Given the description of an element on the screen output the (x, y) to click on. 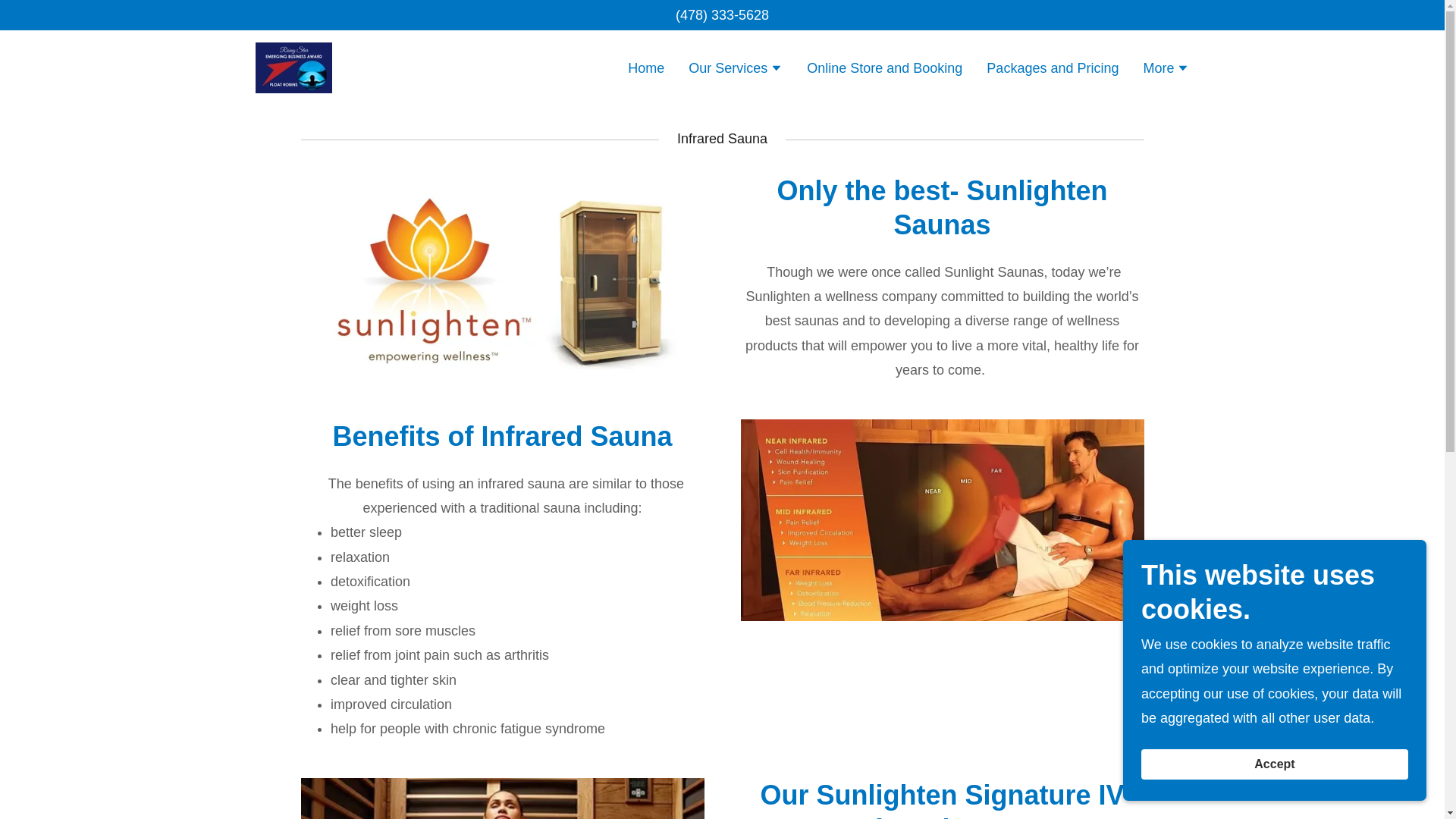
Online Store and Booking (884, 67)
Float Robins (292, 67)
Home (645, 67)
More (1165, 69)
Packages and Pricing (1051, 67)
Our Services (735, 69)
